Given the description of an element on the screen output the (x, y) to click on. 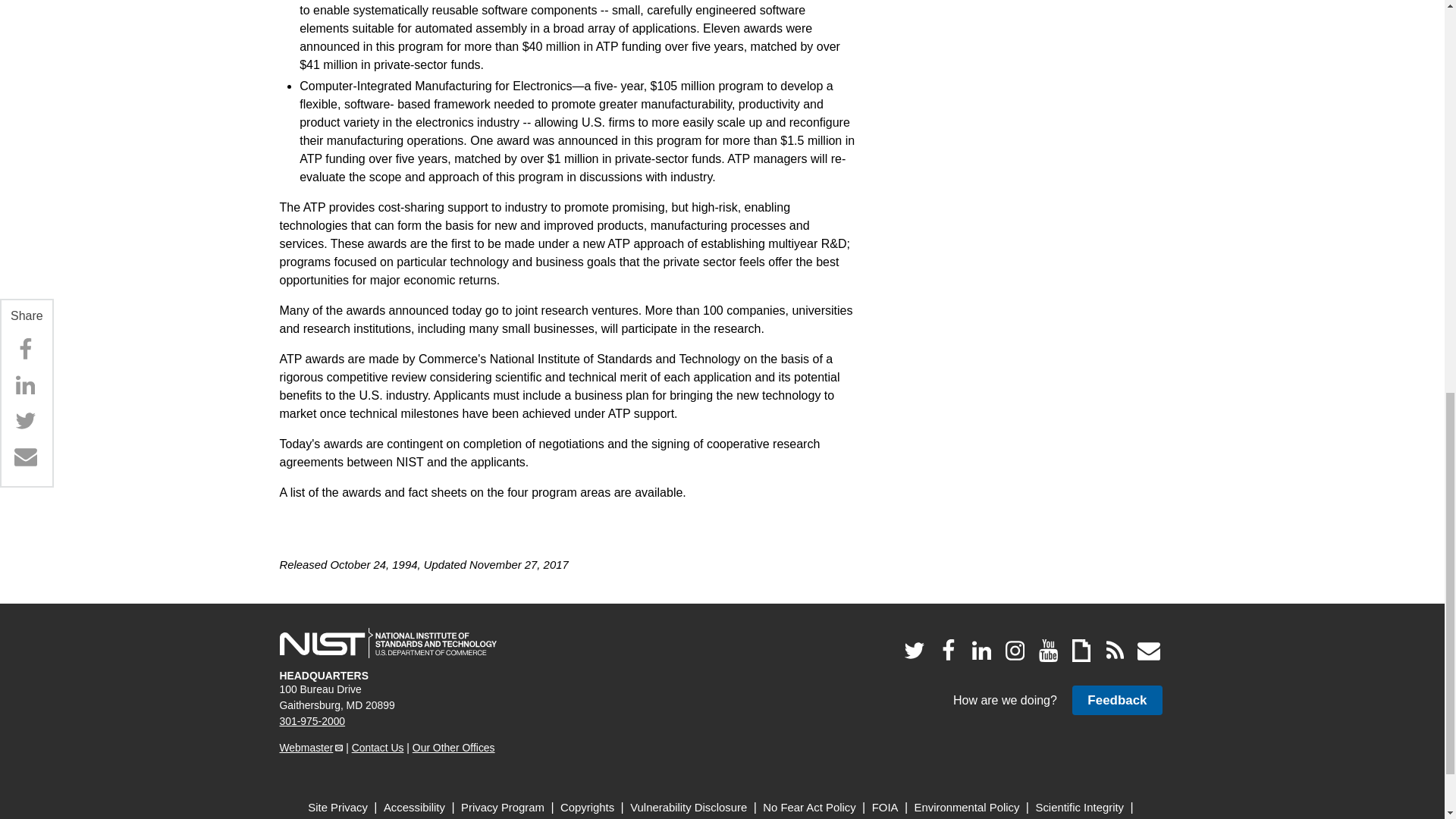
Webmaster (310, 747)
Contact Us (378, 747)
Privacy Program (502, 807)
Site Privacy (337, 807)
National Institute of Standards and Technology (387, 643)
Feedback (1116, 699)
Vulnerability Disclosure (688, 807)
Copyrights (587, 807)
Our Other Offices (453, 747)
No Fear Act Policy (809, 807)
